Given the description of an element on the screen output the (x, y) to click on. 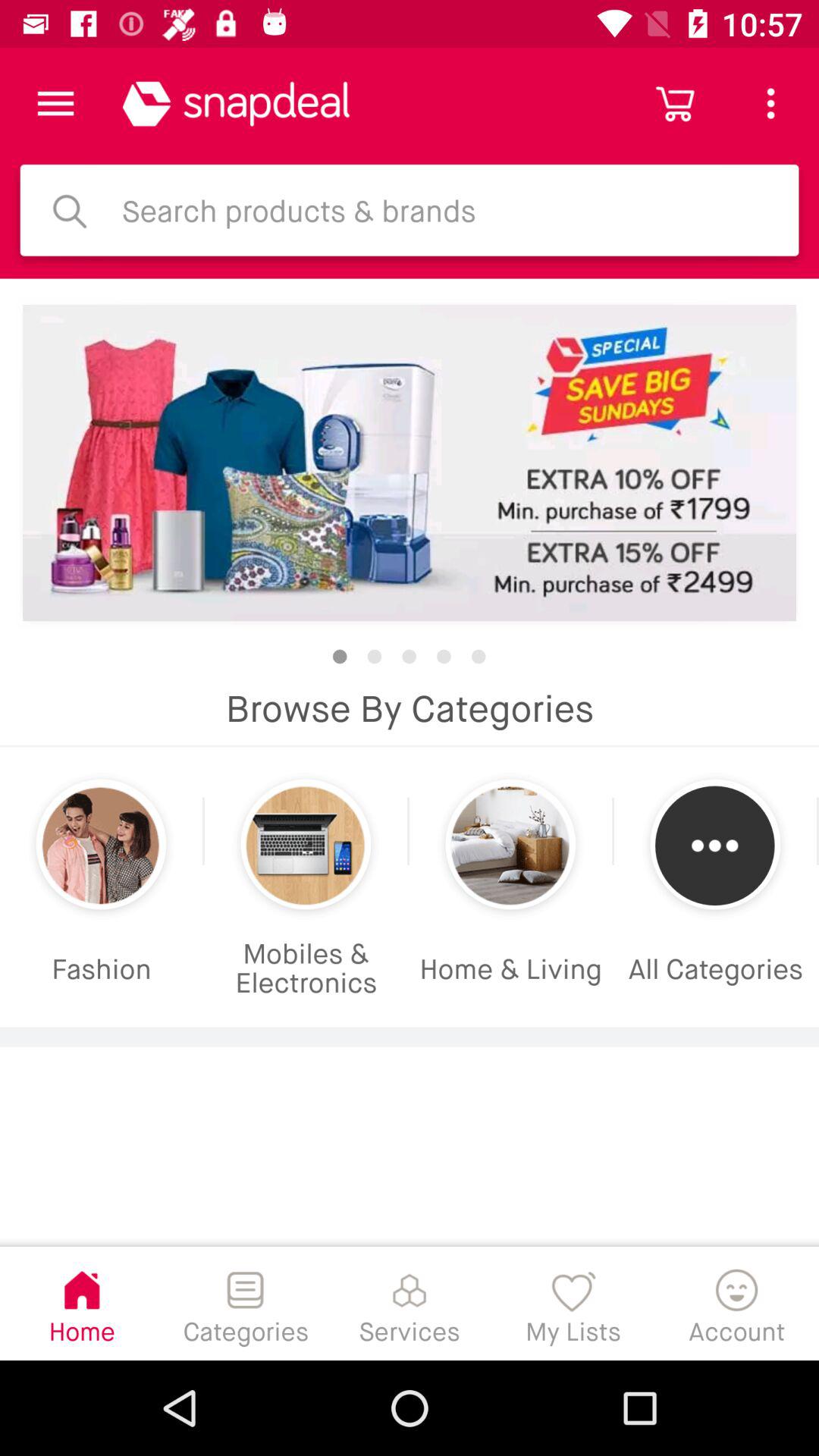
turn on the account item (737, 1303)
